Given the description of an element on the screen output the (x, y) to click on. 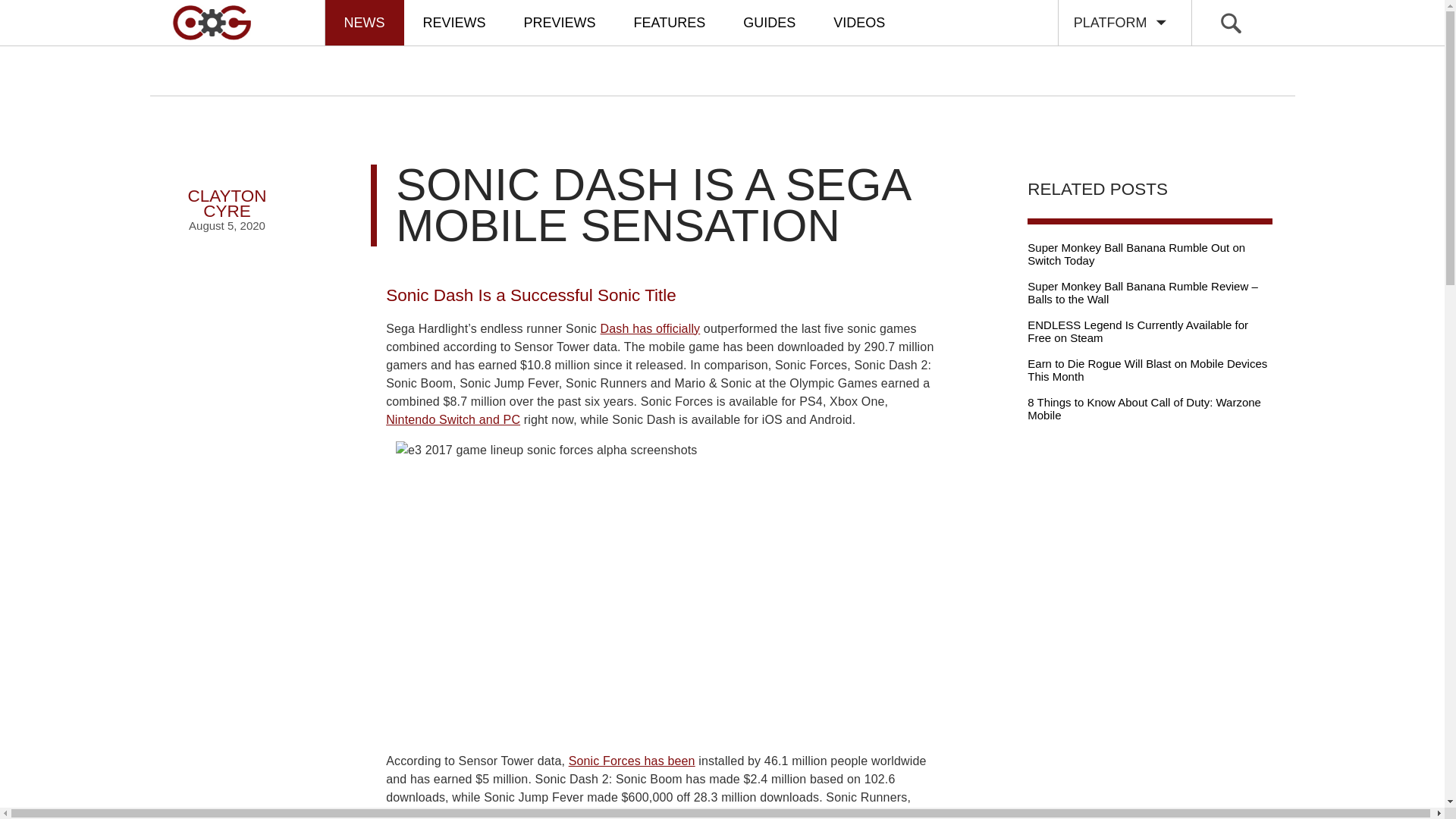
PLATFORM   (227, 189)
